Given the description of an element on the screen output the (x, y) to click on. 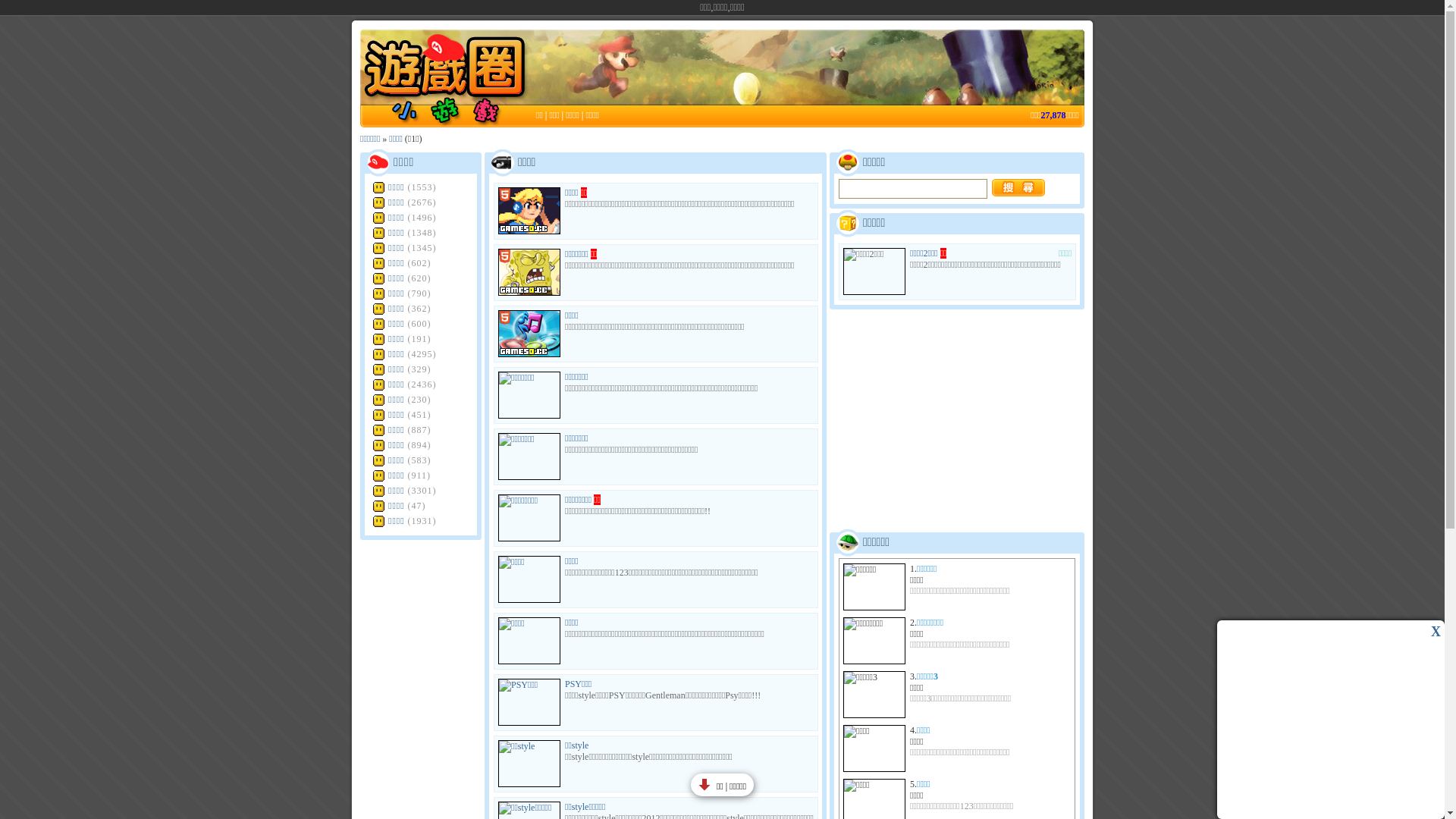
Advertisement Element type: hover (806, 67)
X Element type: text (1435, 632)
Advertisement Element type: hover (956, 419)
